Given the description of an element on the screen output the (x, y) to click on. 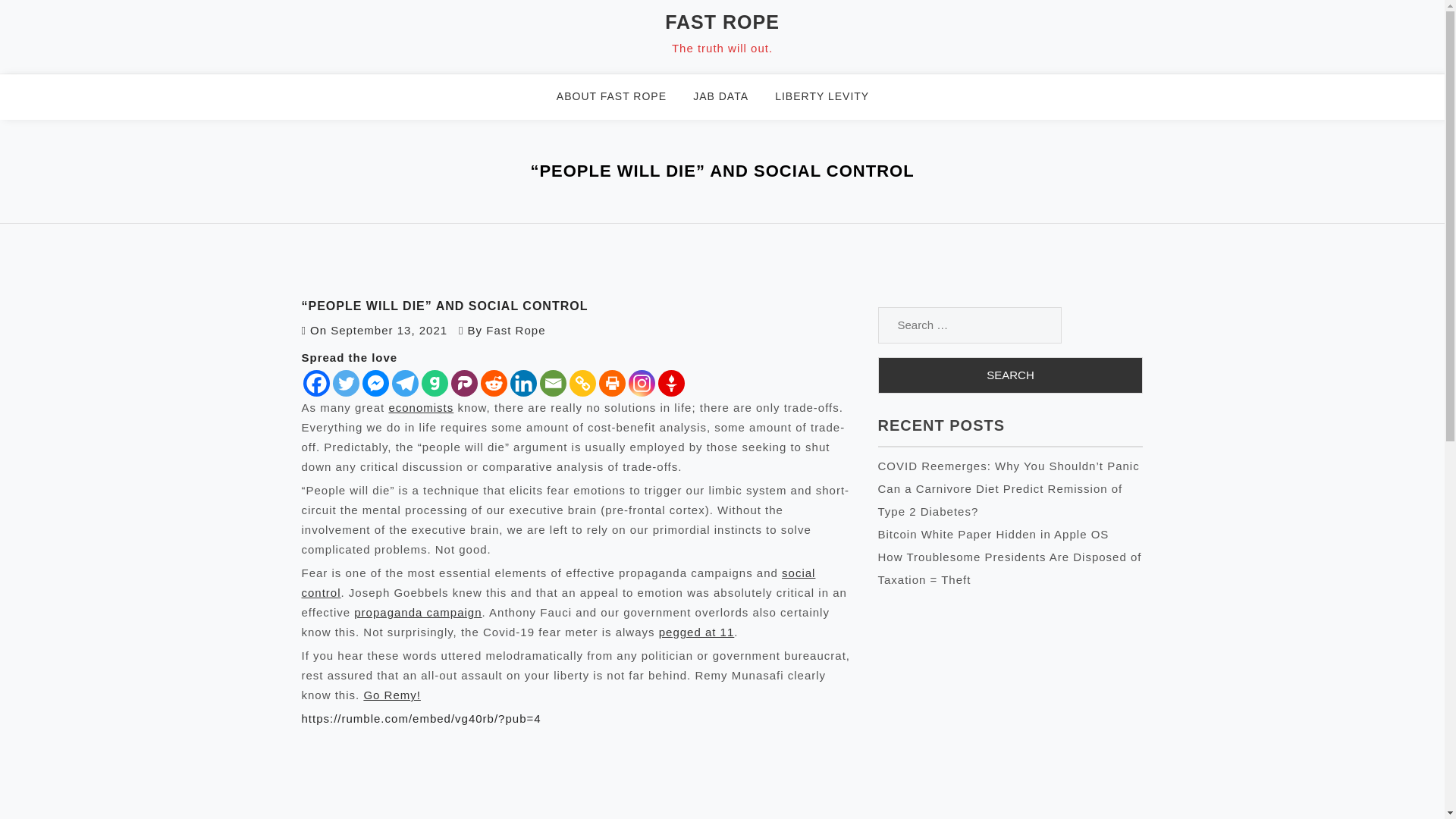
Gab (435, 383)
propaganda campaign (417, 612)
Email (553, 383)
LIBERTY LEVITY (831, 96)
FAST ROPE (721, 21)
pegged at 11 (697, 631)
Go Remy! (391, 694)
Instagram (640, 383)
Twitter (344, 383)
JAB DATA (730, 96)
economists (420, 407)
Print (612, 383)
Linkedin (522, 383)
